Given the description of an element on the screen output the (x, y) to click on. 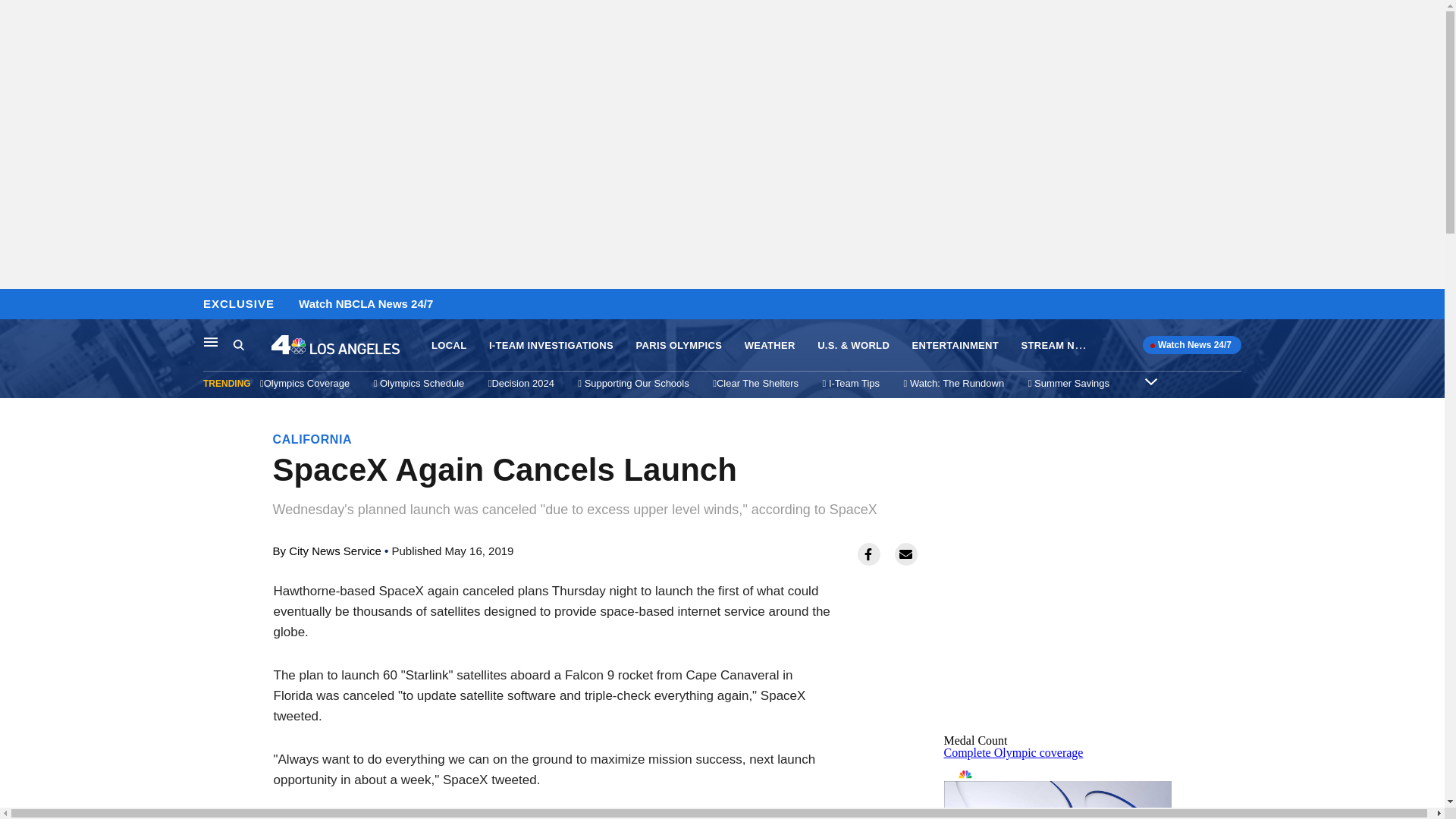
CALIFORNIA (312, 439)
Search (252, 345)
Expand (1150, 381)
LOCAL (447, 345)
I-TEAM INVESTIGATIONS (550, 345)
Skip to content (16, 304)
Main Navigation (210, 341)
Search (238, 344)
PARIS OLYMPICS (678, 345)
Complete Olympic coverage (1013, 752)
WEATHER (769, 345)
ENTERTAINMENT (955, 345)
